Given the description of an element on the screen output the (x, y) to click on. 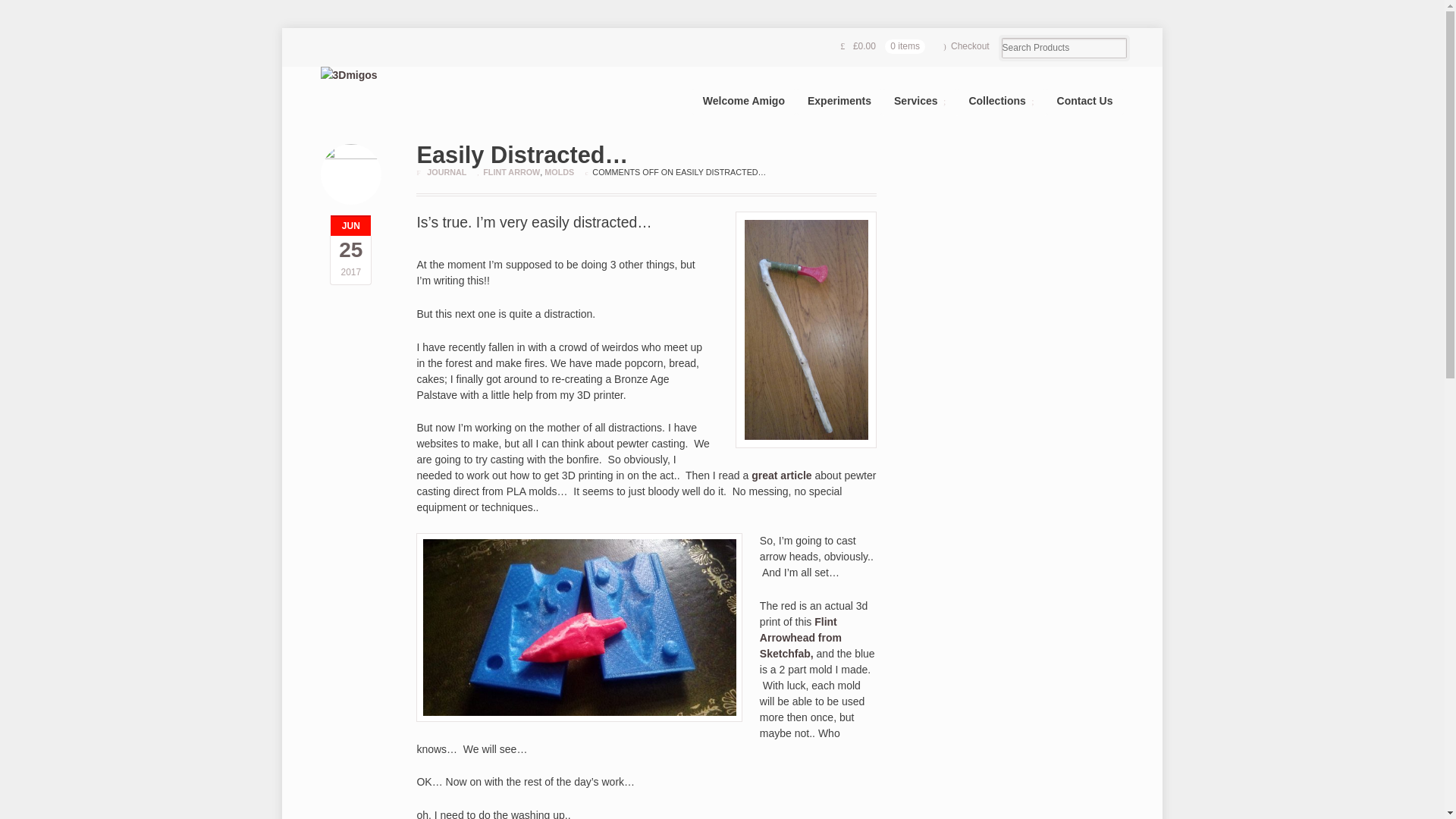
great article (780, 475)
Flint Arrowhead from Sketchfab, (800, 637)
Welcome Amigo (743, 101)
MOLDS (558, 171)
FLINT ARROW (511, 171)
Search (62, 10)
JOURNAL (445, 171)
